Given the description of an element on the screen output the (x, y) to click on. 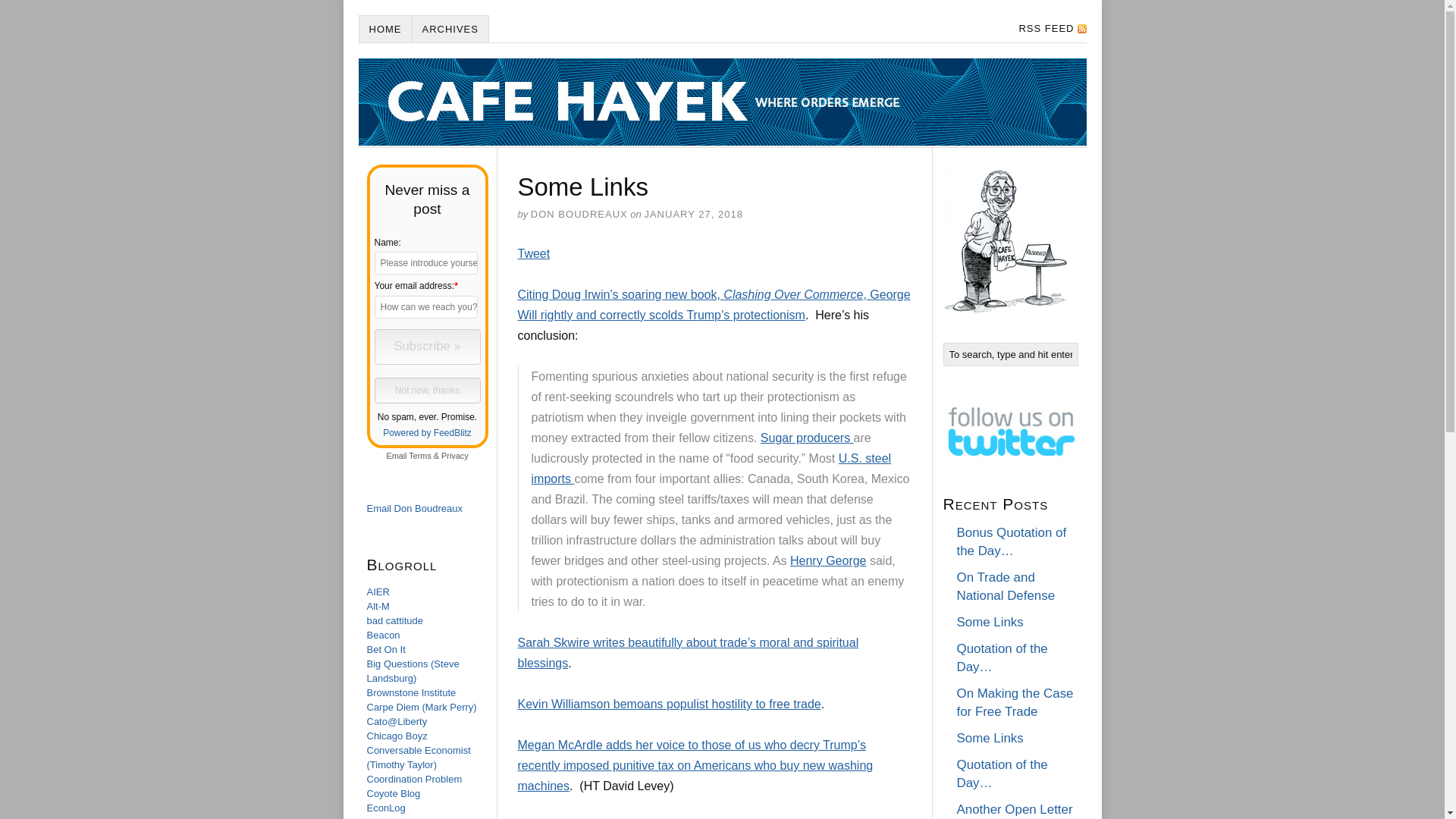
Privacy (454, 455)
ARCHIVES (450, 29)
Terms (419, 455)
HOME (385, 29)
Email Don Boudreaux (414, 508)
2018-01-27 (692, 214)
Coordination Problem (414, 778)
Alt-M (378, 605)
Powered by FeedBlitz (426, 432)
oll.libertyfund.org (828, 560)
Brownstone Institute (411, 692)
bad cattitude (394, 620)
www.trade.gov (711, 468)
AIER (378, 591)
Email subscriptions terms of service (419, 455)
